Given the description of an element on the screen output the (x, y) to click on. 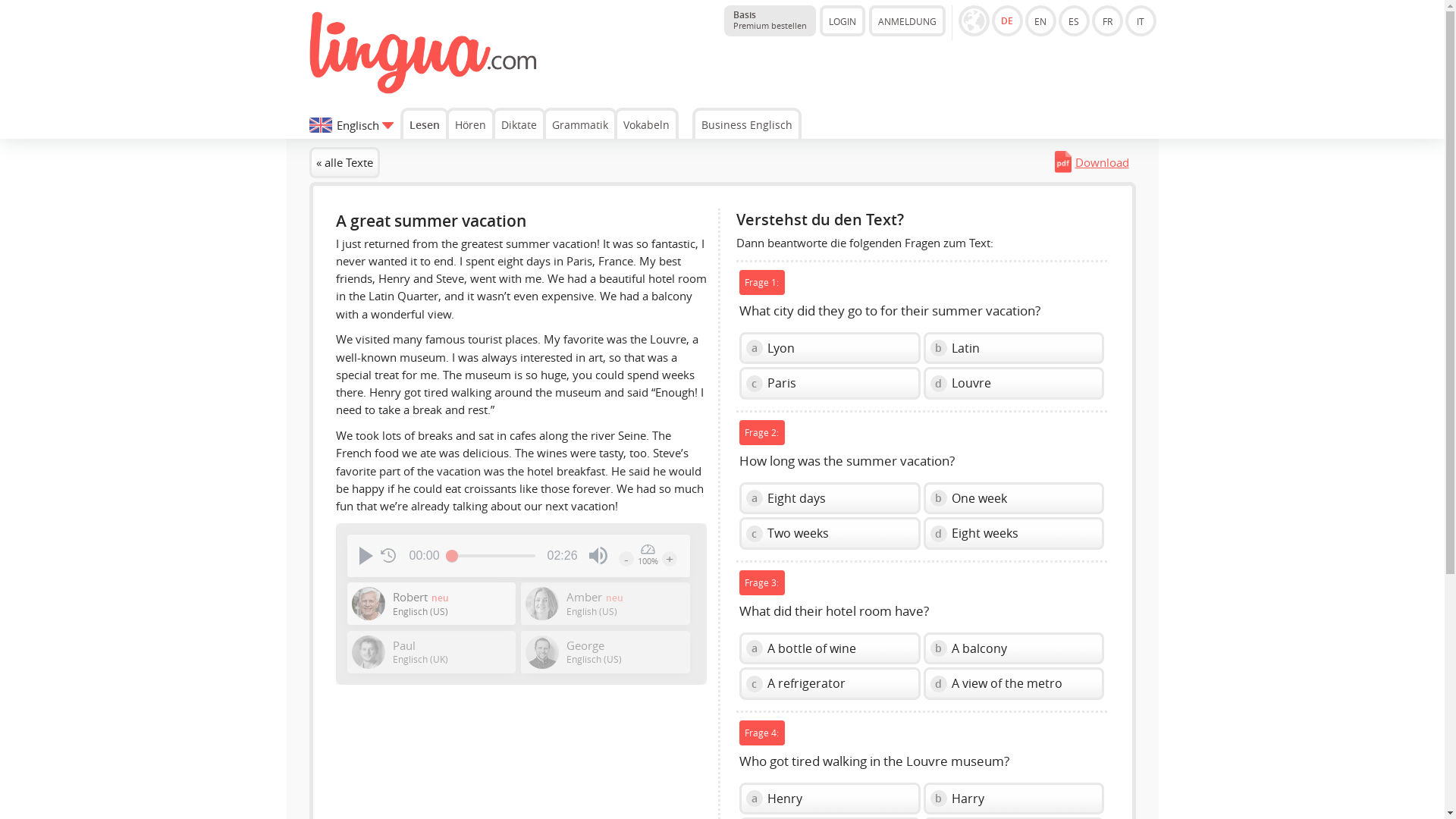
Diktate (769, 20)
FR (518, 123)
Open Volume Controls (1107, 20)
Vokabeln (598, 556)
IT (646, 123)
Download (1140, 20)
EN (1094, 162)
Business Englisch (1041, 20)
Grammatik (747, 123)
DE (580, 123)
Lesen (1007, 20)
ES (424, 123)
